Given the description of an element on the screen output the (x, y) to click on. 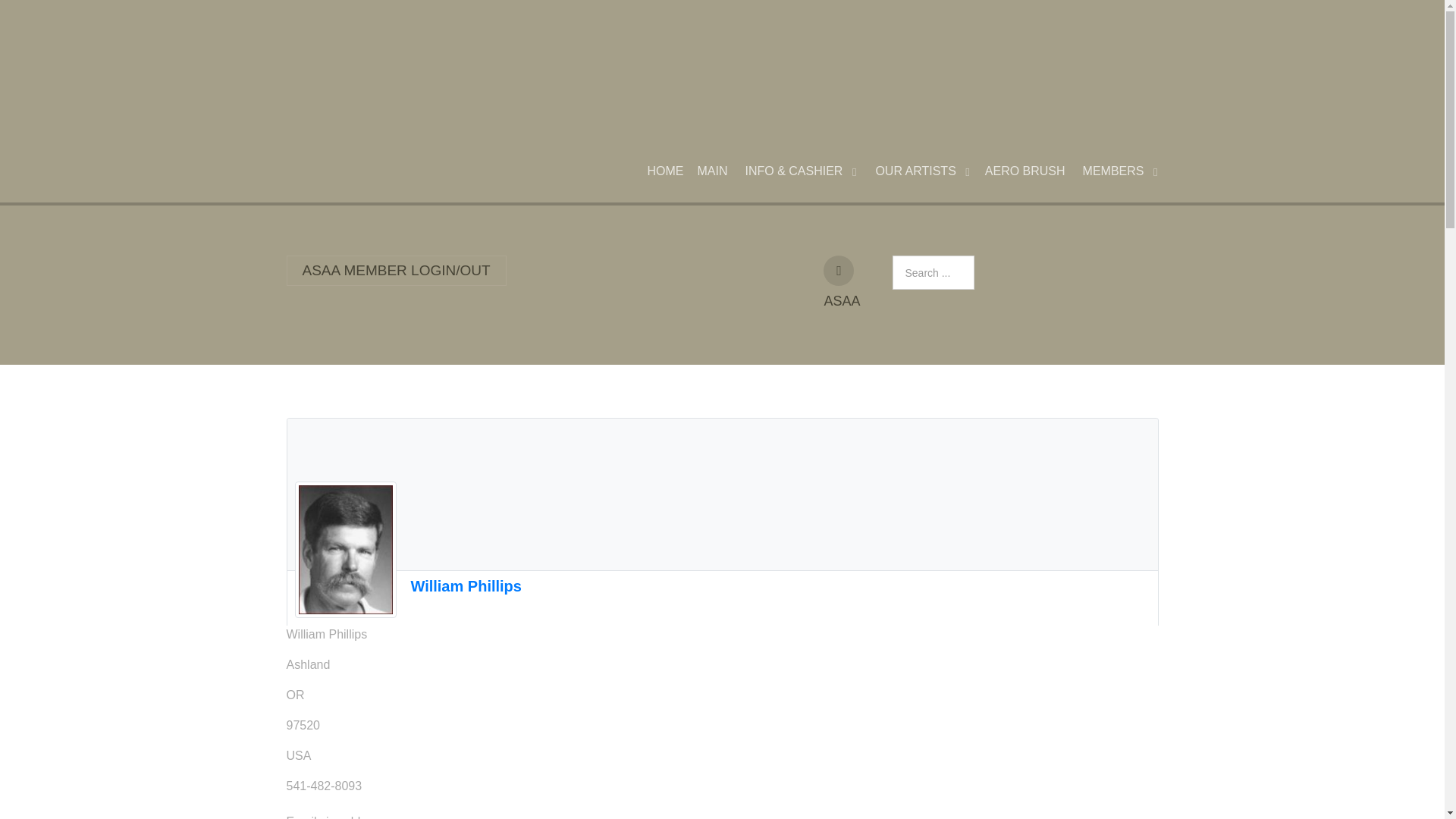
AERO BRUSH (1024, 170)
OUR ARTISTS (920, 170)
MEMBERS (1119, 170)
ASAA (838, 270)
